Given the description of an element on the screen output the (x, y) to click on. 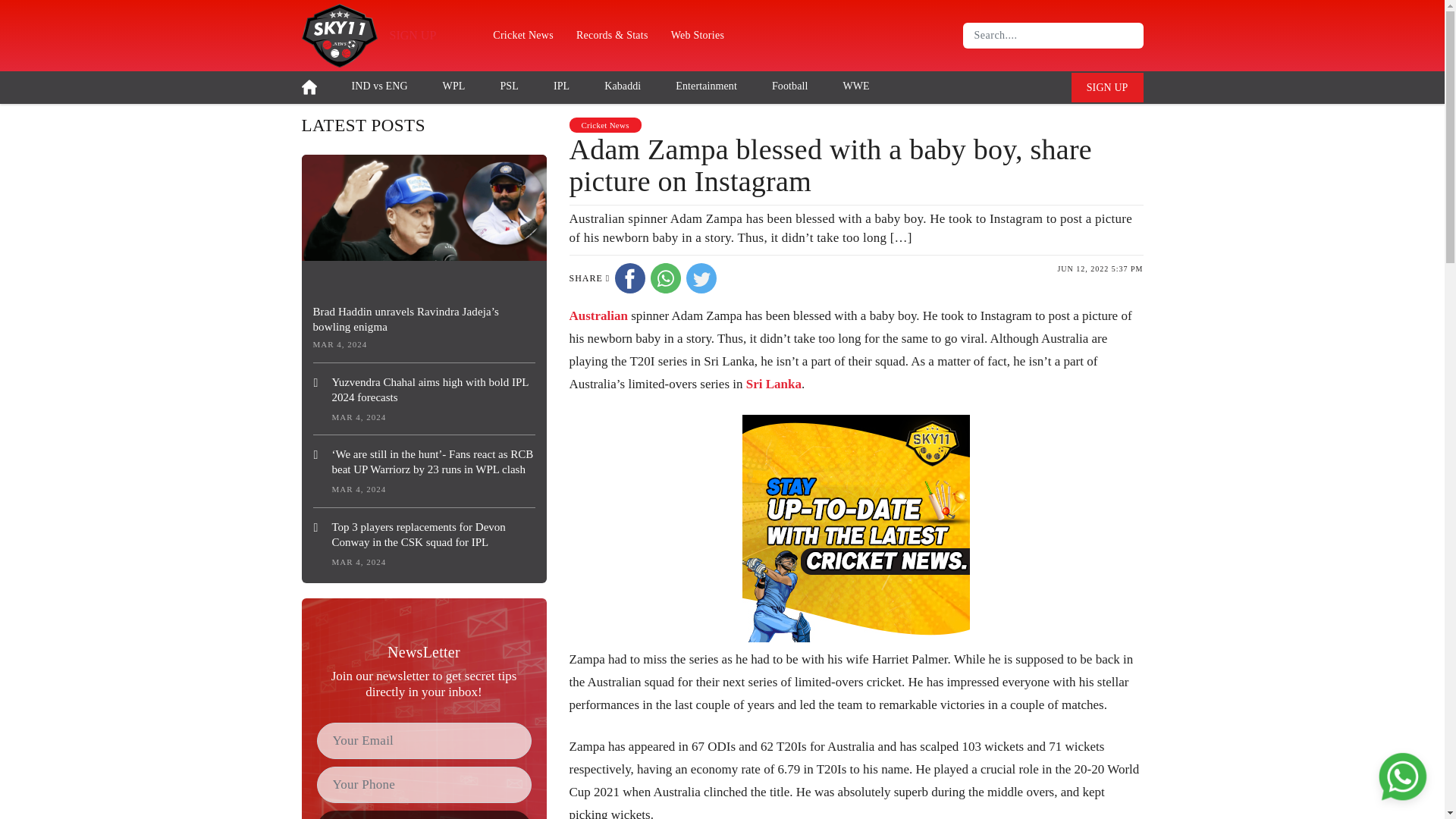
WPL (453, 85)
IND vs ENG (378, 85)
Cricket News (522, 35)
Football (789, 85)
SIGN UP (413, 35)
IPL (561, 85)
Web Stories (697, 35)
Australian (598, 315)
SIGN UP (1106, 87)
WWE (856, 85)
